Given the description of an element on the screen output the (x, y) to click on. 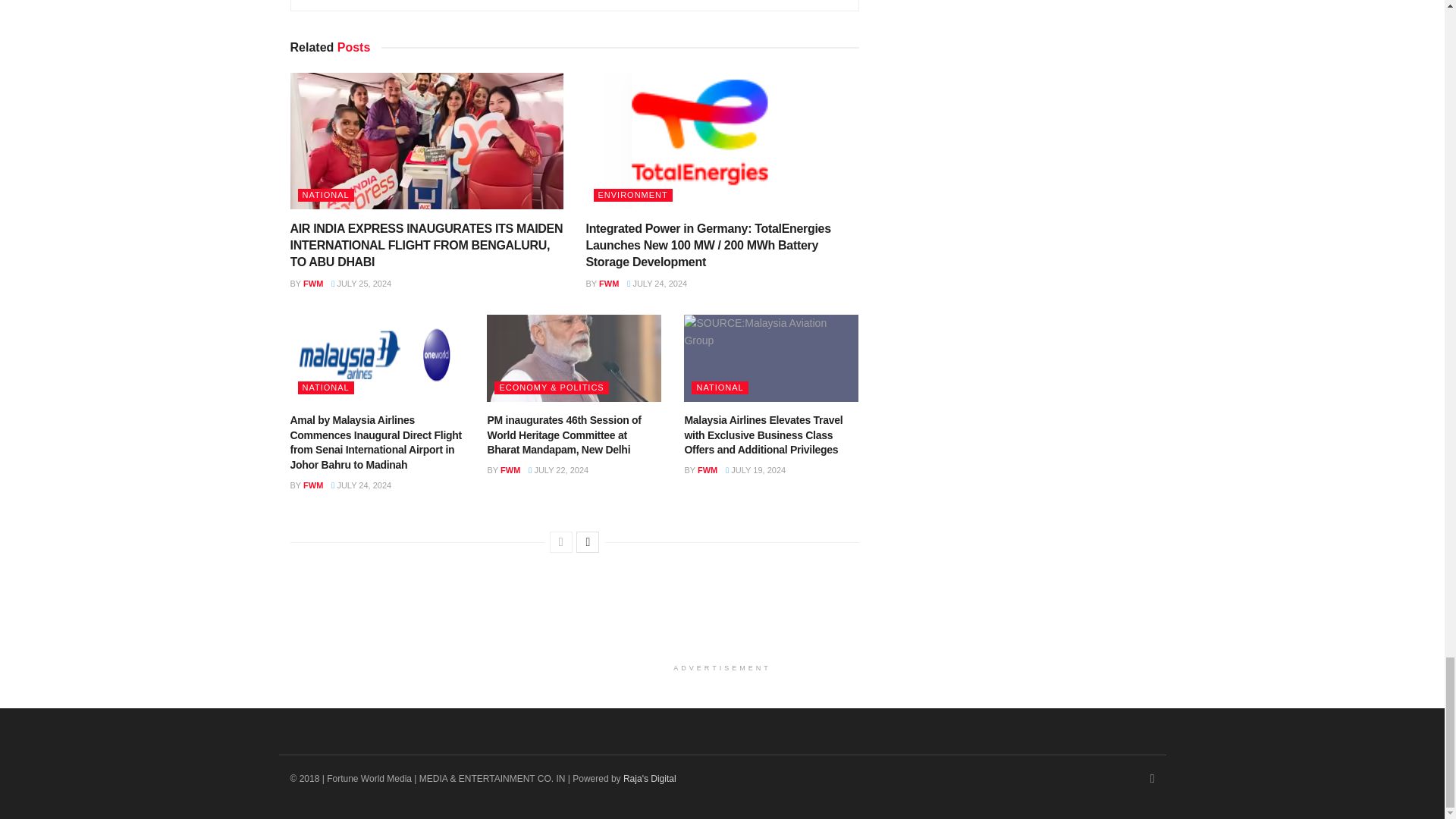
Next (587, 541)
Previous (561, 541)
